Given the description of an element on the screen output the (x, y) to click on. 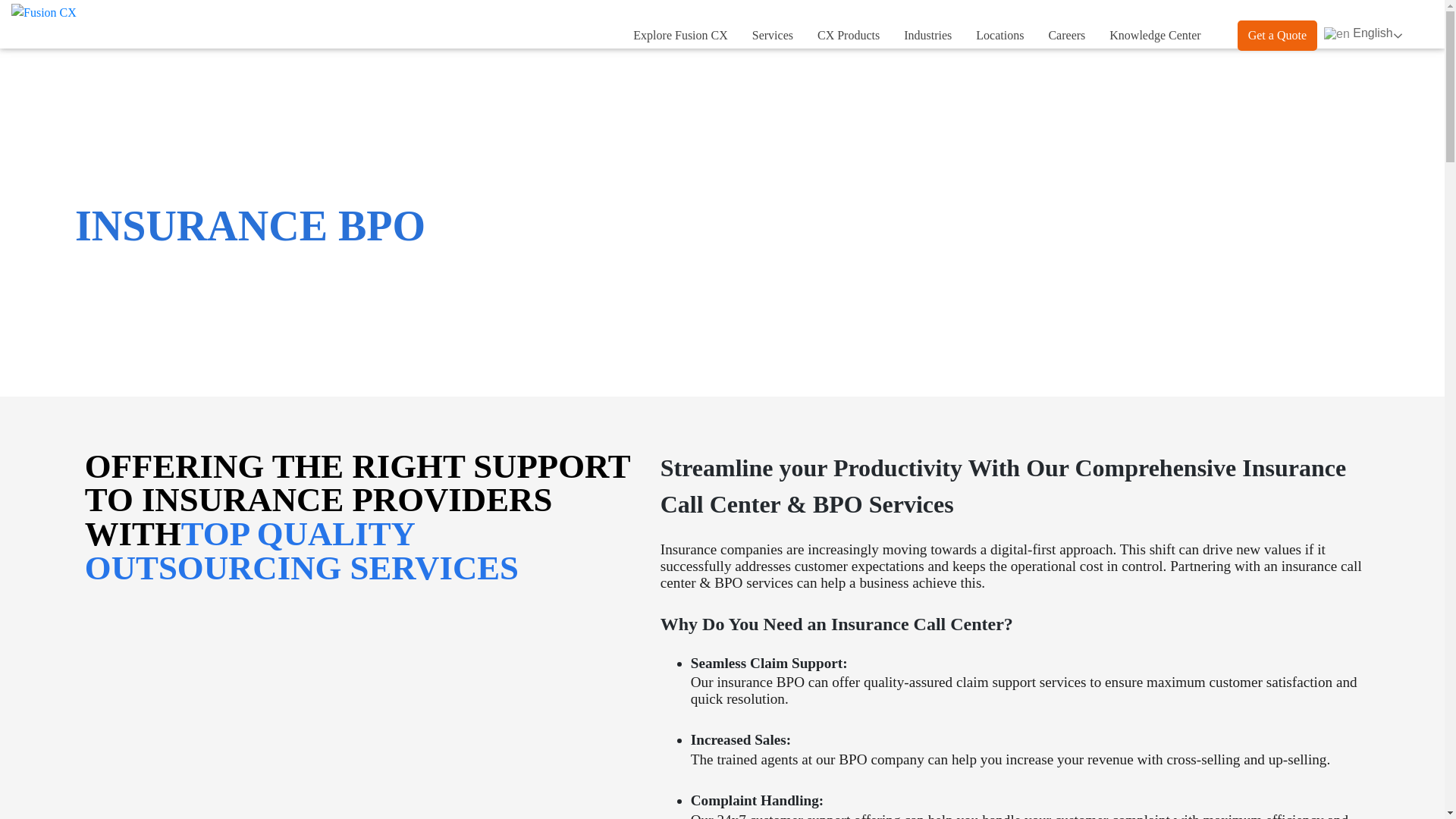
Services (772, 35)
CX Products (847, 35)
Explore Fusion CX (680, 35)
